Given the description of an element on the screen output the (x, y) to click on. 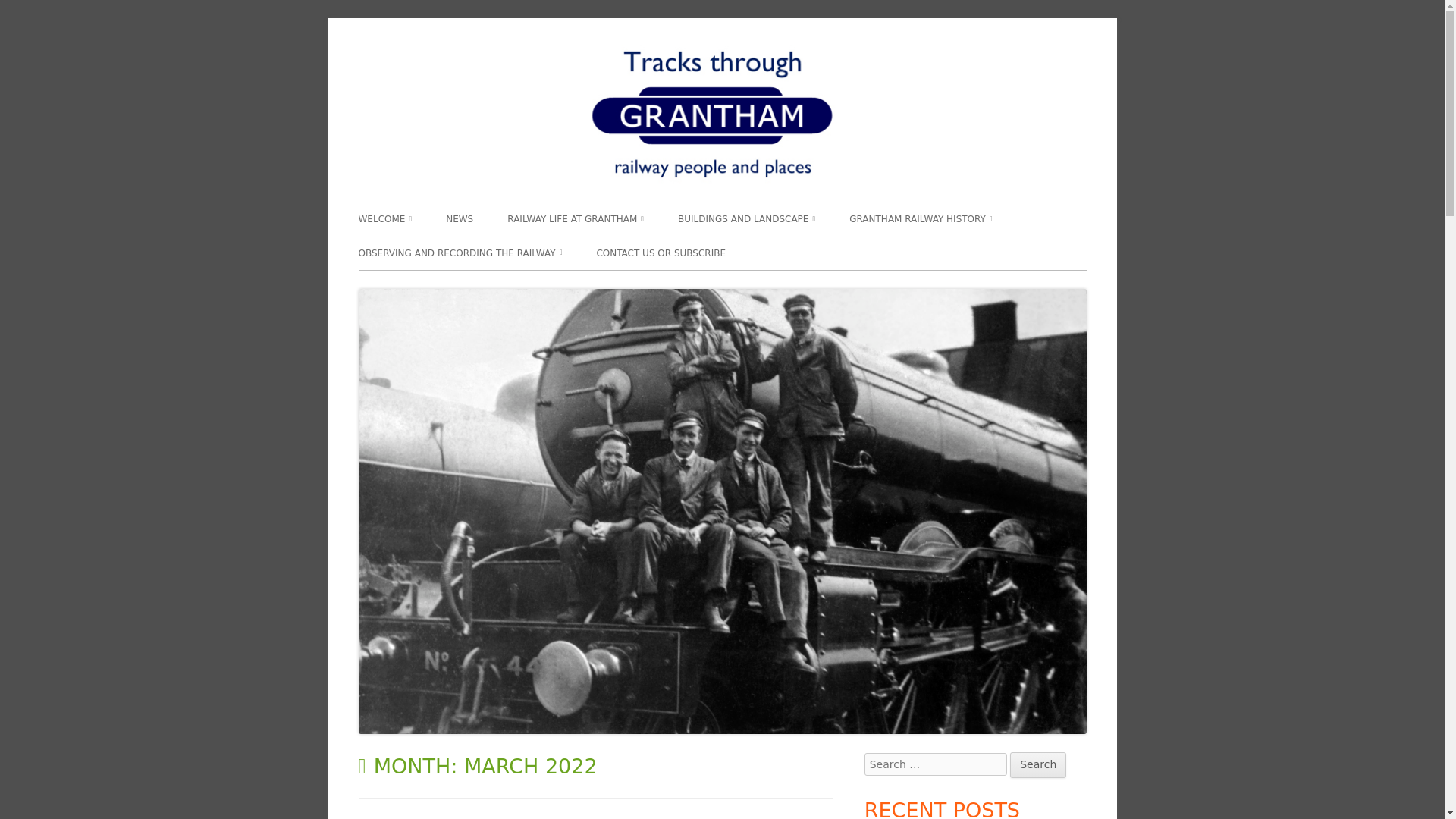
ABOUT TRACKS THROUGH GRANTHAM (444, 260)
Search (1037, 765)
RAILWAY LIFE AT GRANTHAM (574, 218)
Search (1037, 765)
Tracks through Grantham (1211, 63)
WELCOME (385, 218)
